Given the description of an element on the screen output the (x, y) to click on. 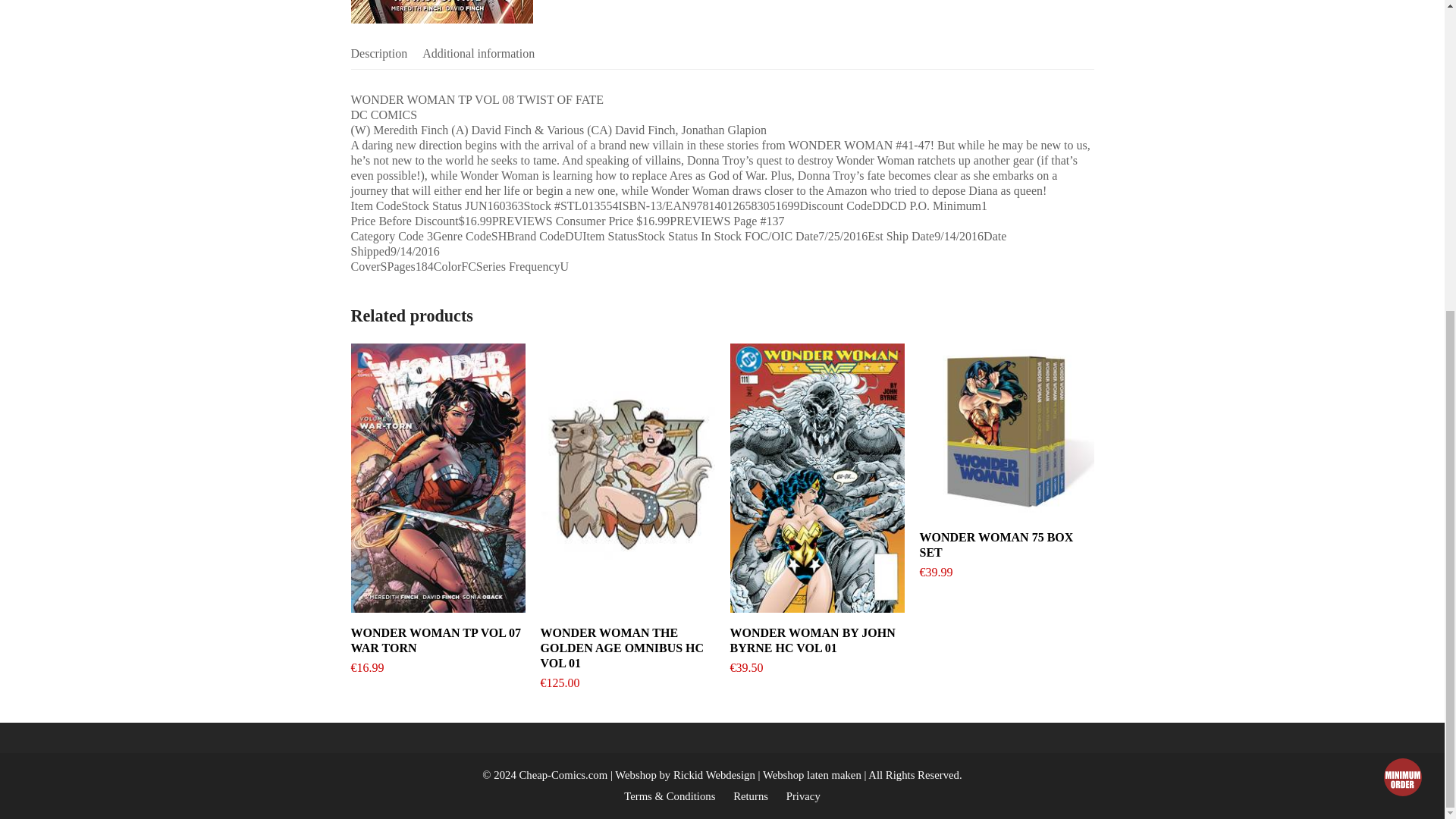
Additional information (478, 53)
WONDER WOMAN 75 BOX SET (1005, 544)
wwoman8tp (441, 11)
WONDER WOMAN THE GOLDEN AGE OMNIBUS HC VOL 01 (627, 647)
WONDER WOMAN BY JOHN BYRNE HC VOL 01 (816, 640)
Webshop laten maken (813, 775)
WONDER WOMAN TP VOL 07 WAR TORN (437, 640)
Description (378, 53)
Rickid Webdesign (713, 775)
